Given the description of an element on the screen output the (x, y) to click on. 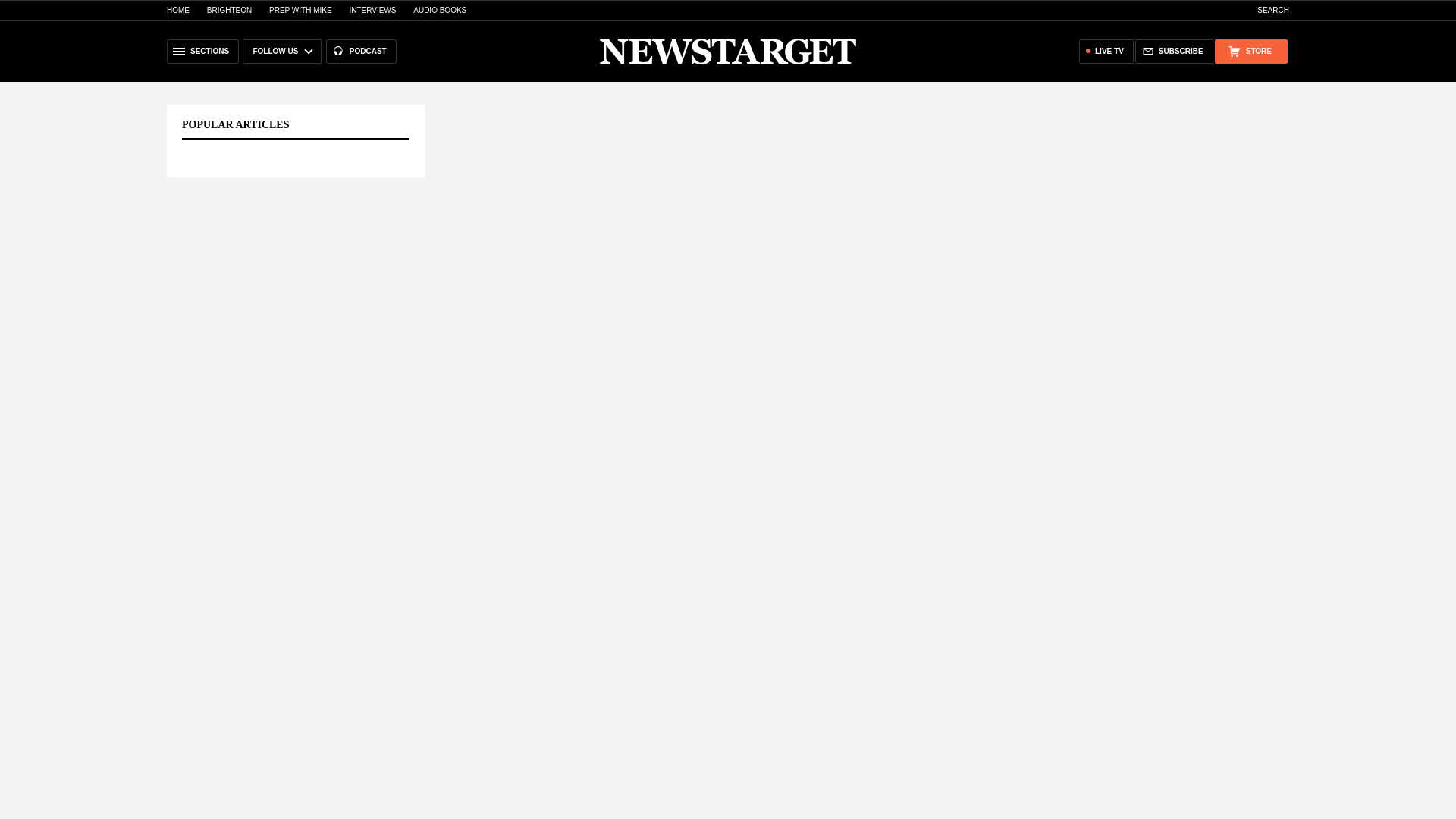
INTERVIEWS (372, 9)
PODCAST (361, 51)
AUDIO BOOKS (439, 9)
HOME (178, 9)
STORE (1250, 51)
SUBSCRIBE (1173, 51)
LIVE TV (1106, 51)
BRIGHTEON (228, 9)
SEARCH (1264, 9)
PREP WITH MIKE (300, 9)
